Given the description of an element on the screen output the (x, y) to click on. 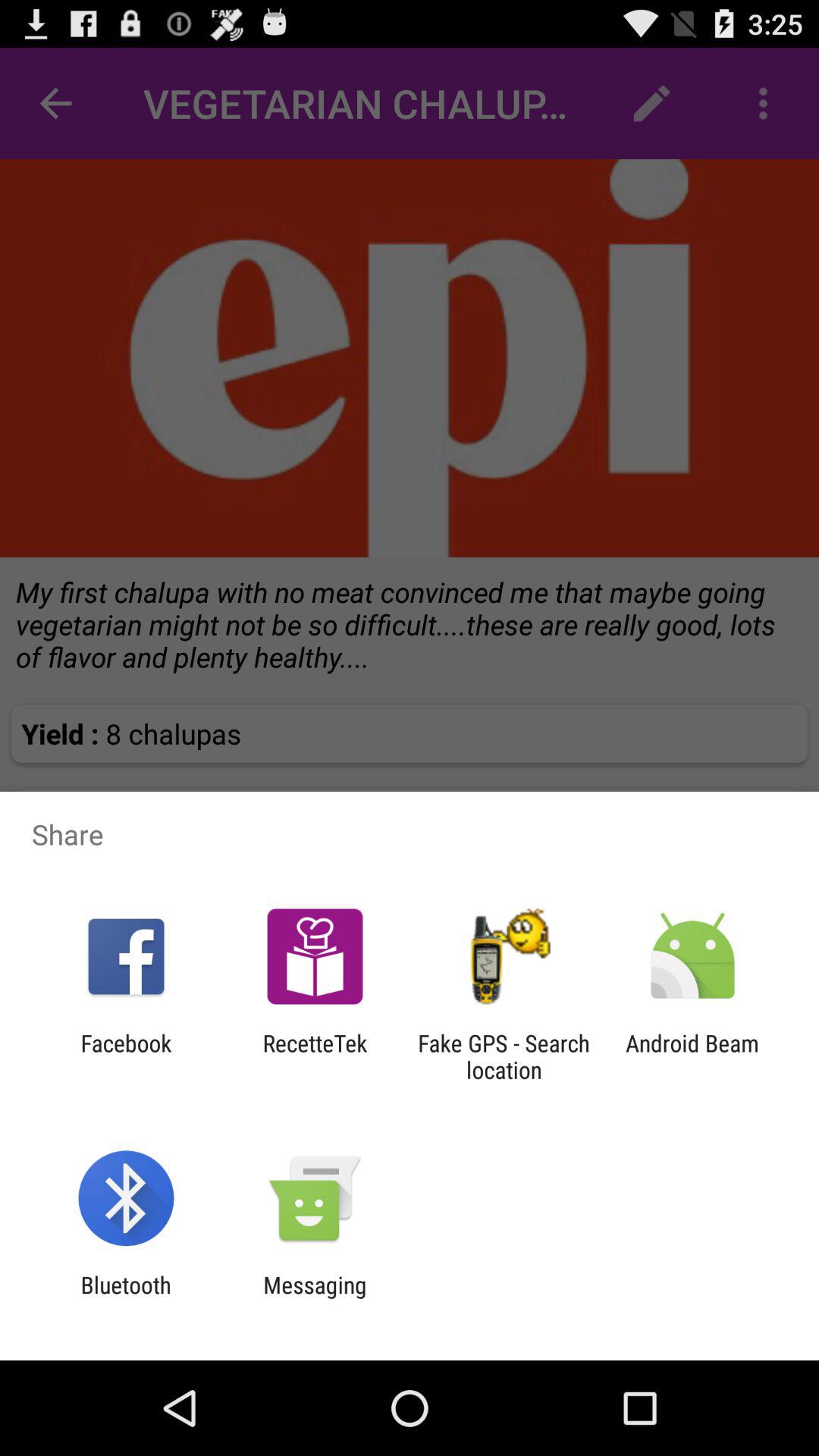
turn on fake gps search icon (503, 1056)
